Given the description of an element on the screen output the (x, y) to click on. 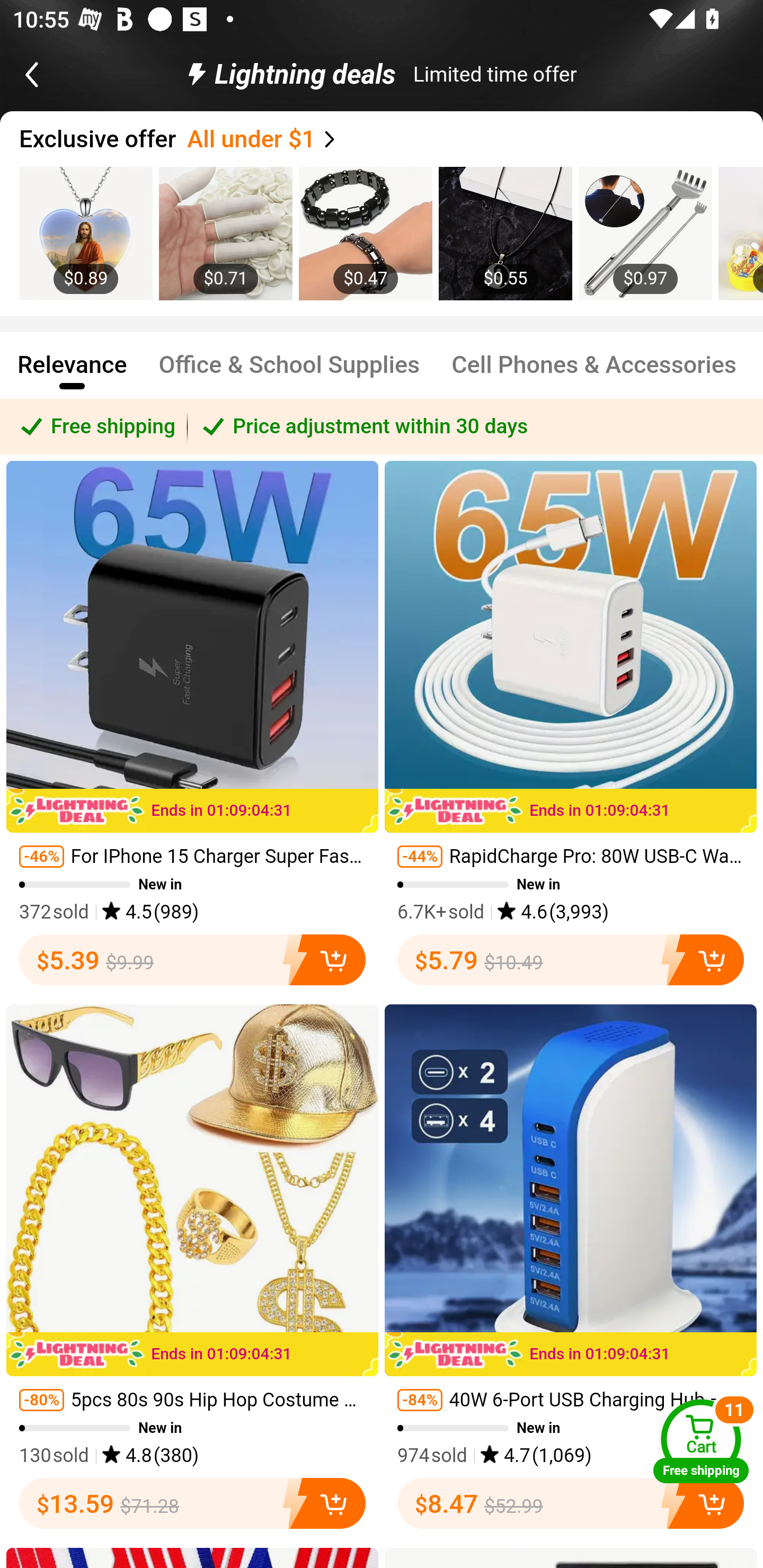
Exclusive offer All under $1 (391, 138)
Relevance (72, 373)
Office & School Supplies (289, 373)
Cell Phones & Accessories (594, 373)
Free shipping (94, 426)
Price adjustment within 30 days (475, 426)
$5.39 $9.99 (192, 959)
$5.79 $10.49 (570, 959)
Cart Free shipping Cart (701, 1440)
$13.59 $71.28 (192, 1503)
$8.47 $52.99 (570, 1503)
